Given the description of an element on the screen output the (x, y) to click on. 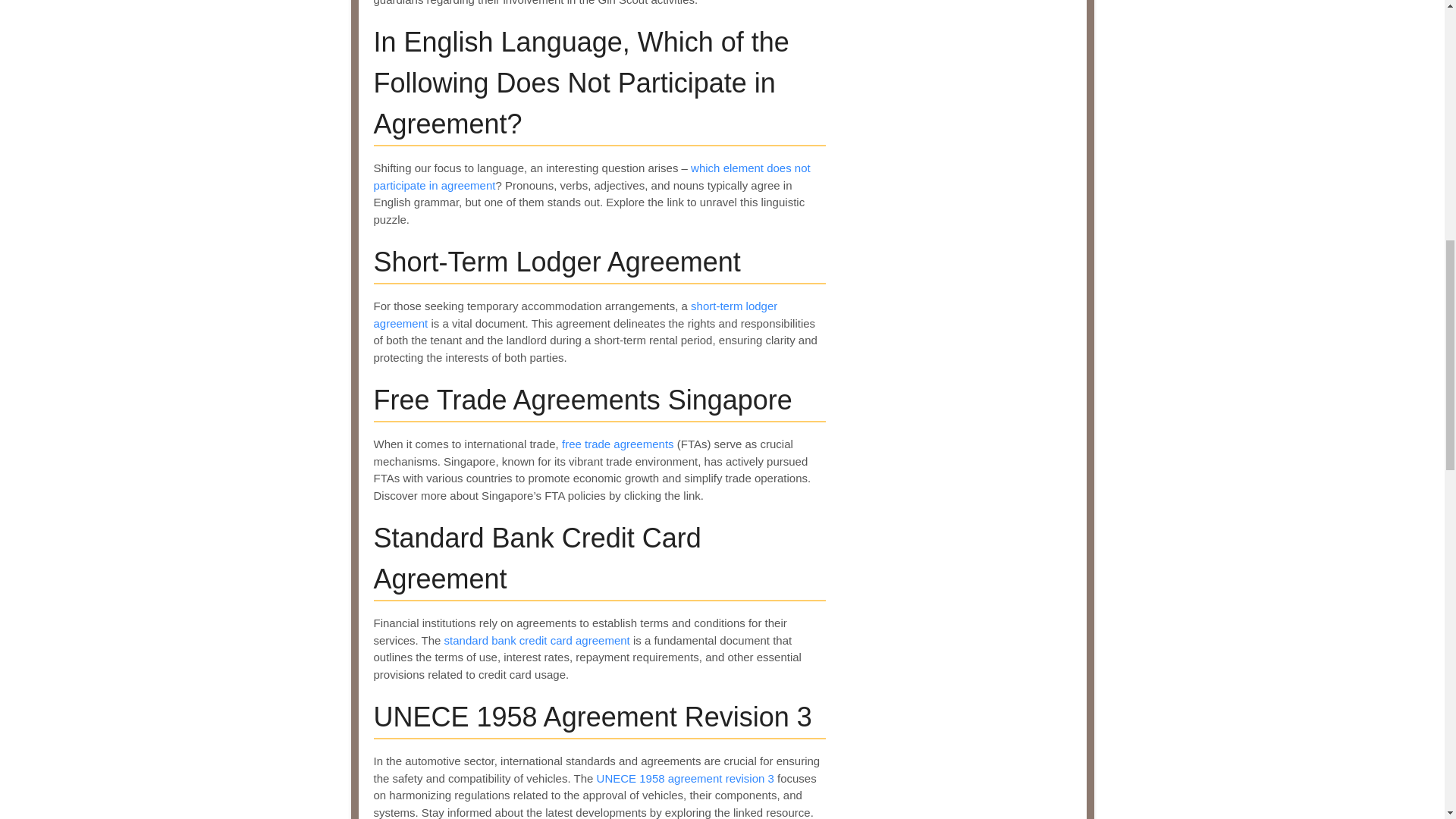
UNECE 1958 agreement revision 3 (685, 778)
free trade agreements (618, 443)
which element does not participate in agreement (590, 176)
standard bank credit card agreement (537, 640)
short-term lodger agreement (574, 314)
